Given the description of an element on the screen output the (x, y) to click on. 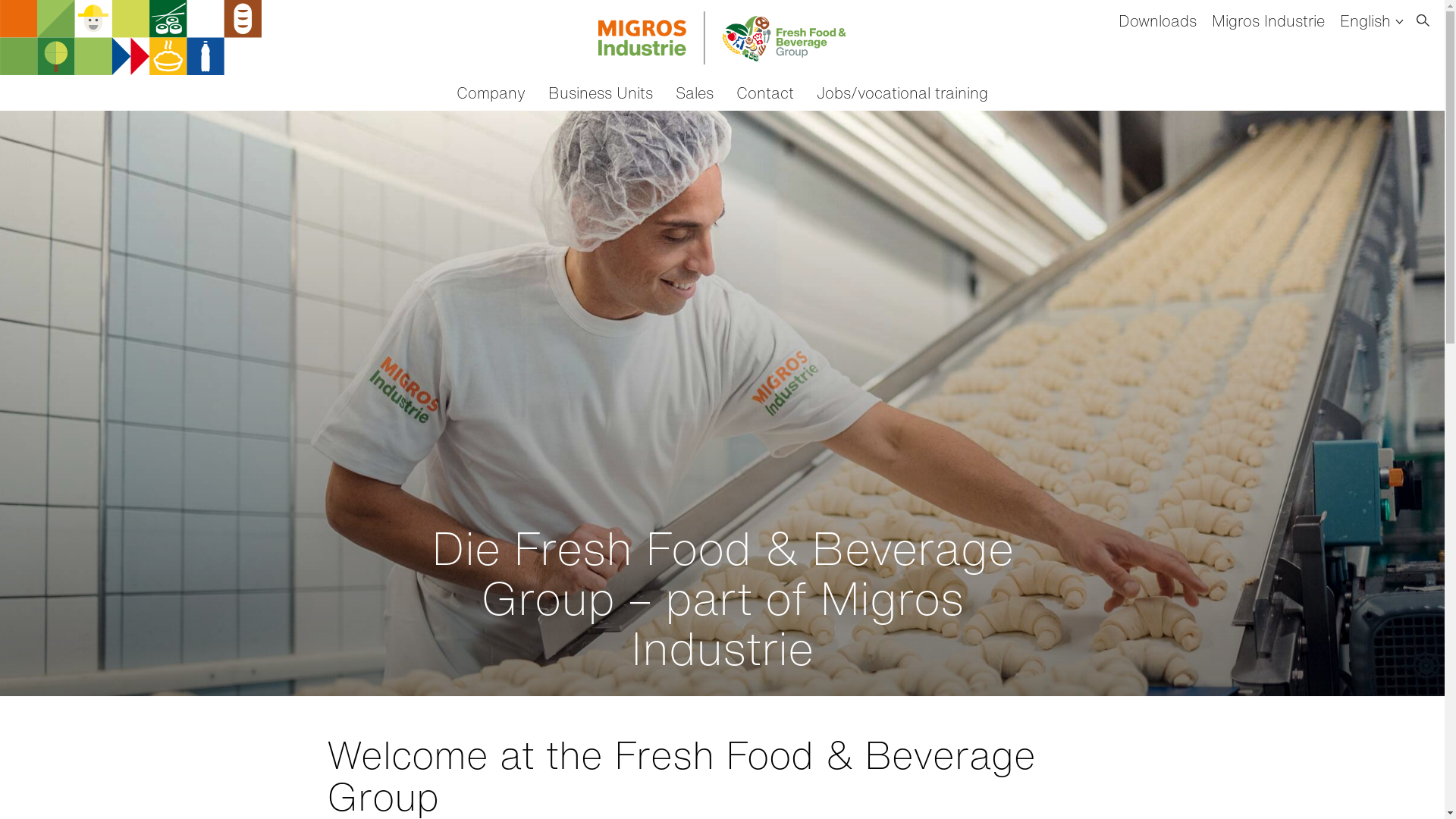
Business Units Element type: text (600, 92)
Contact Element type: text (764, 92)
Sales Element type: text (694, 92)
Migros Industrie Element type: text (1267, 20)
Company Element type: text (490, 92)
Downloads Element type: text (1157, 20)
Jobs/vocational training Element type: text (902, 92)
English Element type: text (1370, 21)
